Given the description of an element on the screen output the (x, y) to click on. 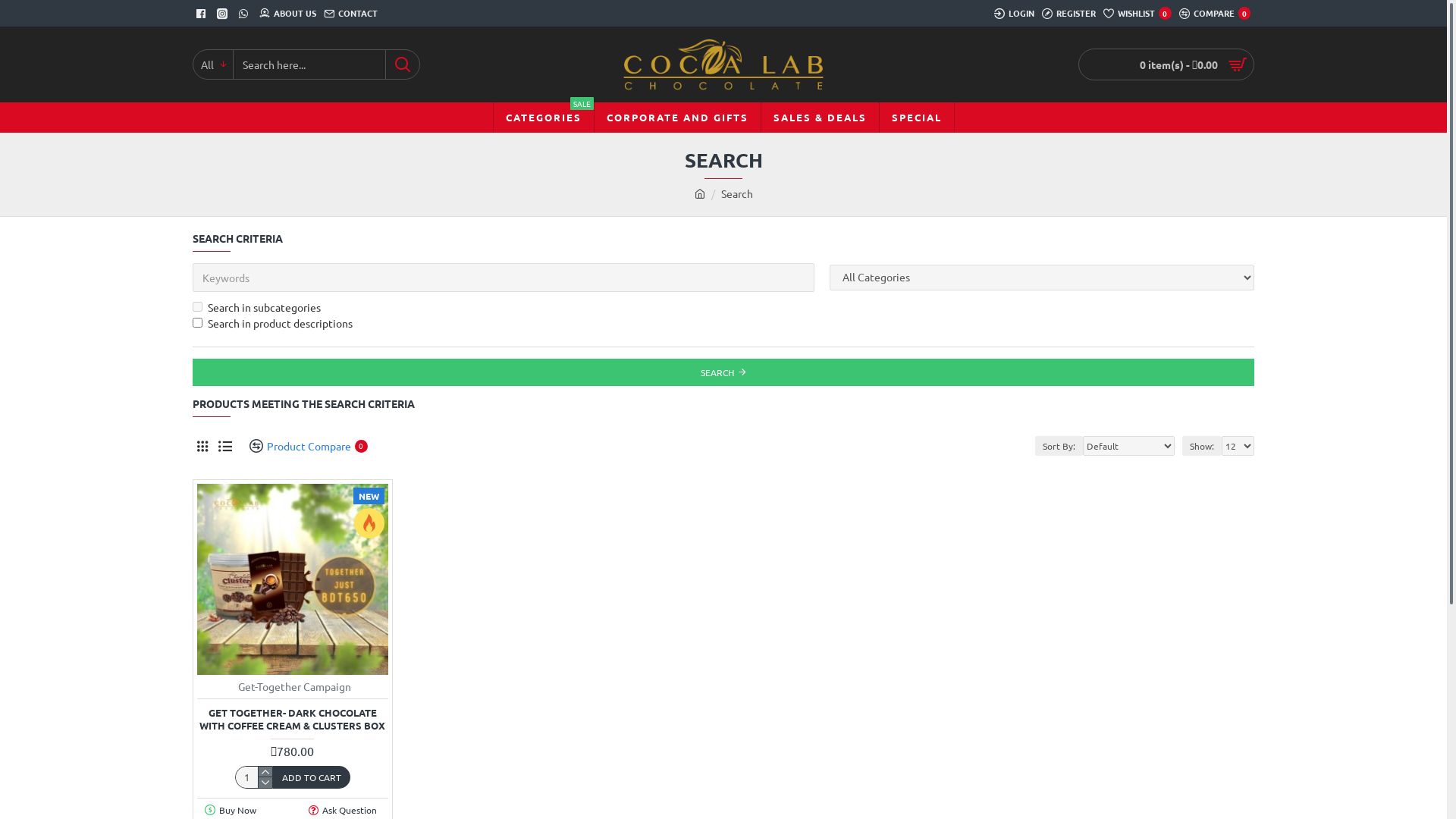
LOGIN Element type: text (1014, 13)
WISHLIST
0 Element type: text (1137, 13)
Cocoa Lab Chocolate Ltd. Element type: hover (723, 64)
ABOUT US Element type: text (287, 13)
COMPARE
0 Element type: text (1215, 13)
CORPORATE AND GIFTS Element type: text (676, 117)
Buy Now Element type: text (232, 809)
CATEGORIES
SALE Element type: text (542, 117)
REGISTER Element type: text (1068, 13)
SPECIAL Element type: text (915, 117)
Search Element type: text (736, 193)
Product Compare
0 Element type: text (302, 446)
ADD TO CART Element type: text (311, 776)
SALES & DEALS Element type: text (818, 117)
Ask Question Element type: text (344, 810)
CONTACT Element type: text (350, 13)
SEARCH Element type: text (723, 371)
